Given the description of an element on the screen output the (x, y) to click on. 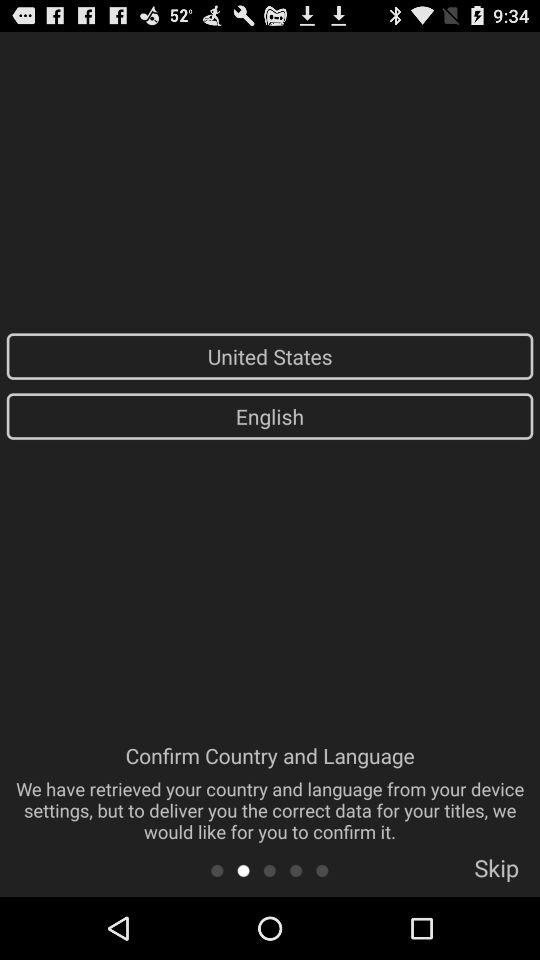
move to second page (243, 870)
